Given the description of an element on the screen output the (x, y) to click on. 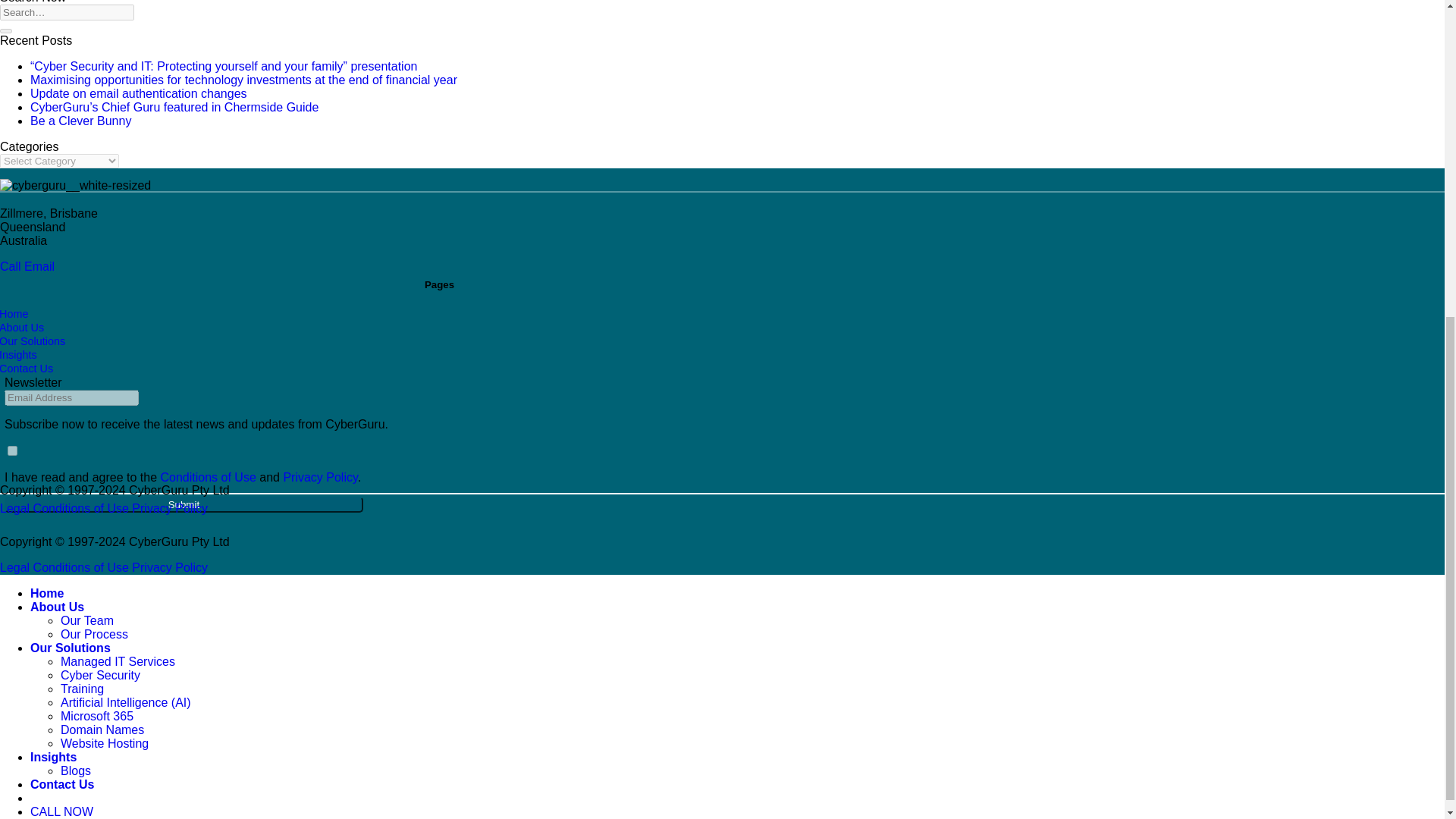
Contact Us (26, 368)
Our Solutions (32, 340)
Email (39, 266)
Call (12, 266)
Be a Clever Bunny (80, 120)
on (12, 450)
Update on email authentication changes (138, 92)
About Us (21, 327)
Home (13, 313)
Insights (18, 354)
